Given the description of an element on the screen output the (x, y) to click on. 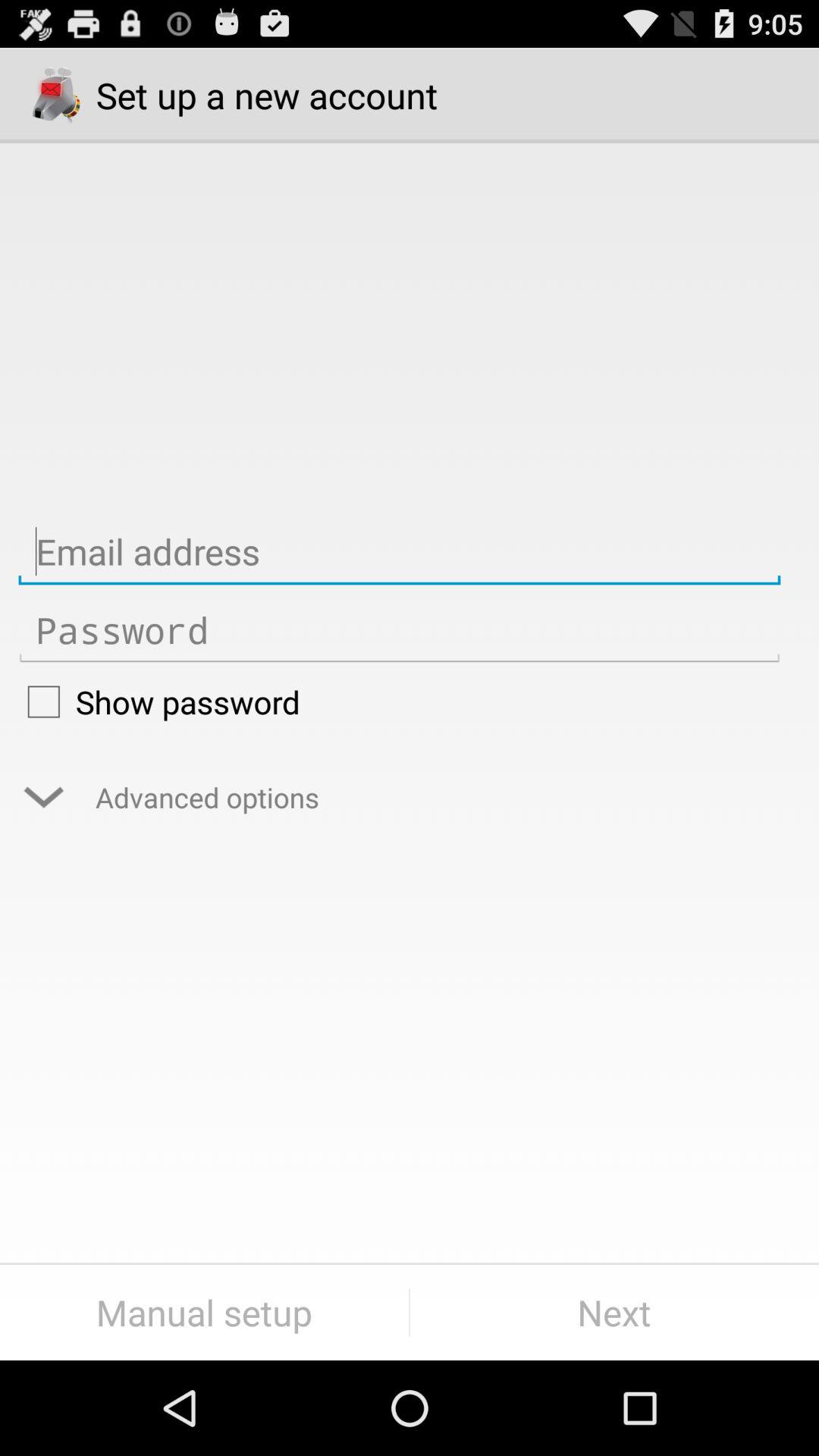
open button to the right of the manual setup item (614, 1312)
